Given the description of an element on the screen output the (x, y) to click on. 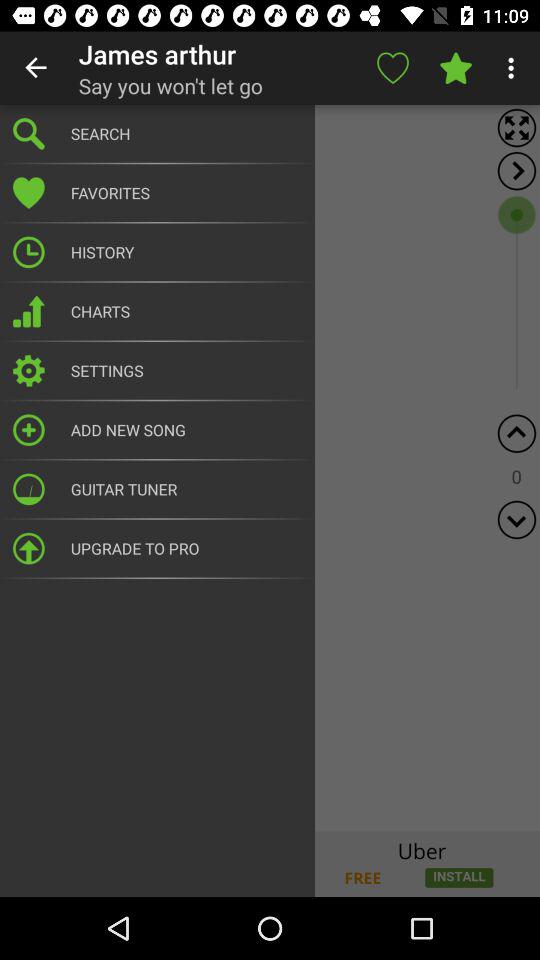
expand (516, 170)
